Given the description of an element on the screen output the (x, y) to click on. 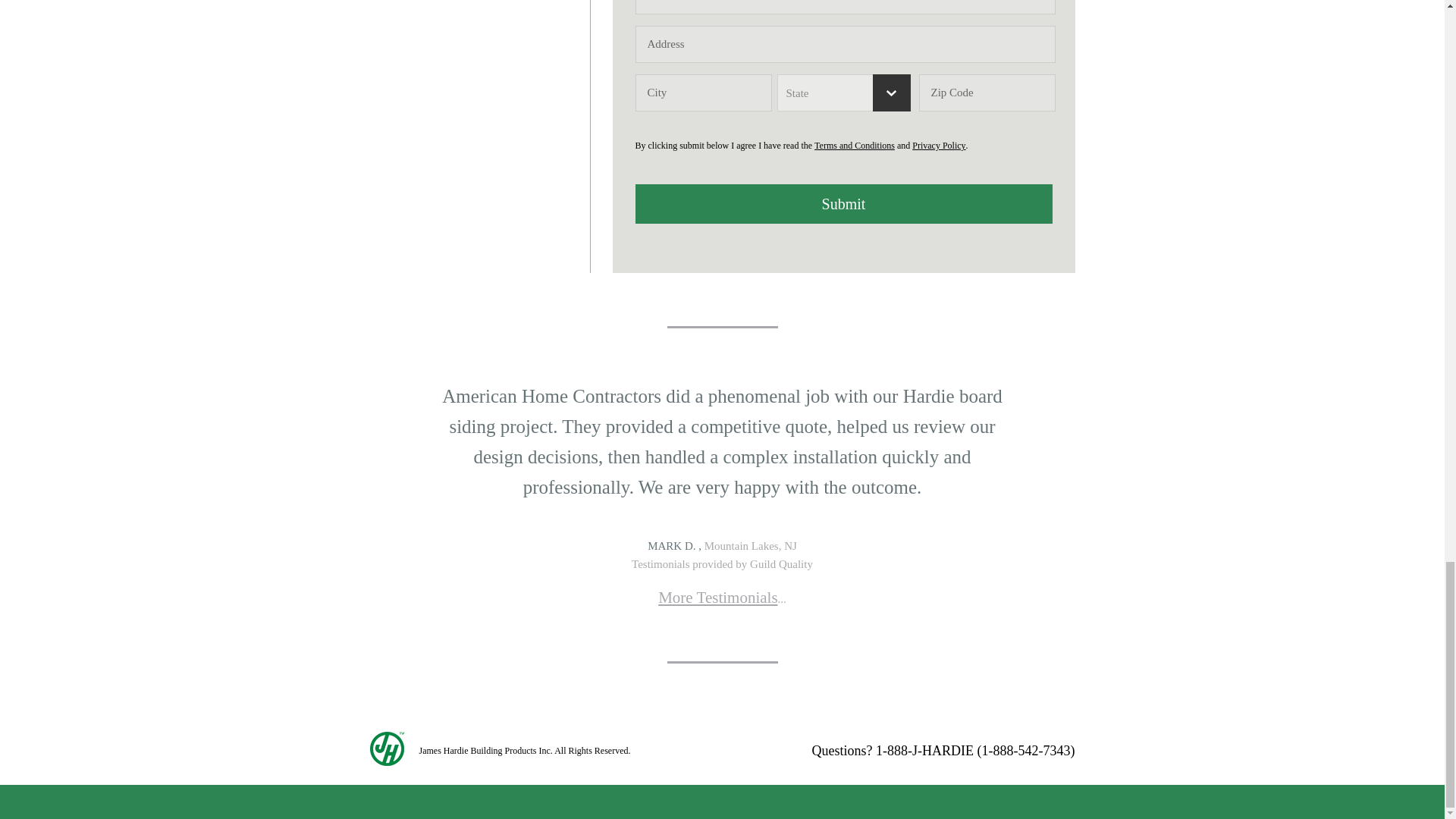
Terms and Conditions (854, 145)
Phone (844, 7)
Zip Code (986, 92)
More Testimonials (717, 597)
Address (844, 44)
Submit (843, 203)
Privacy Policy (938, 145)
City (702, 92)
